Given the description of an element on the screen output the (x, y) to click on. 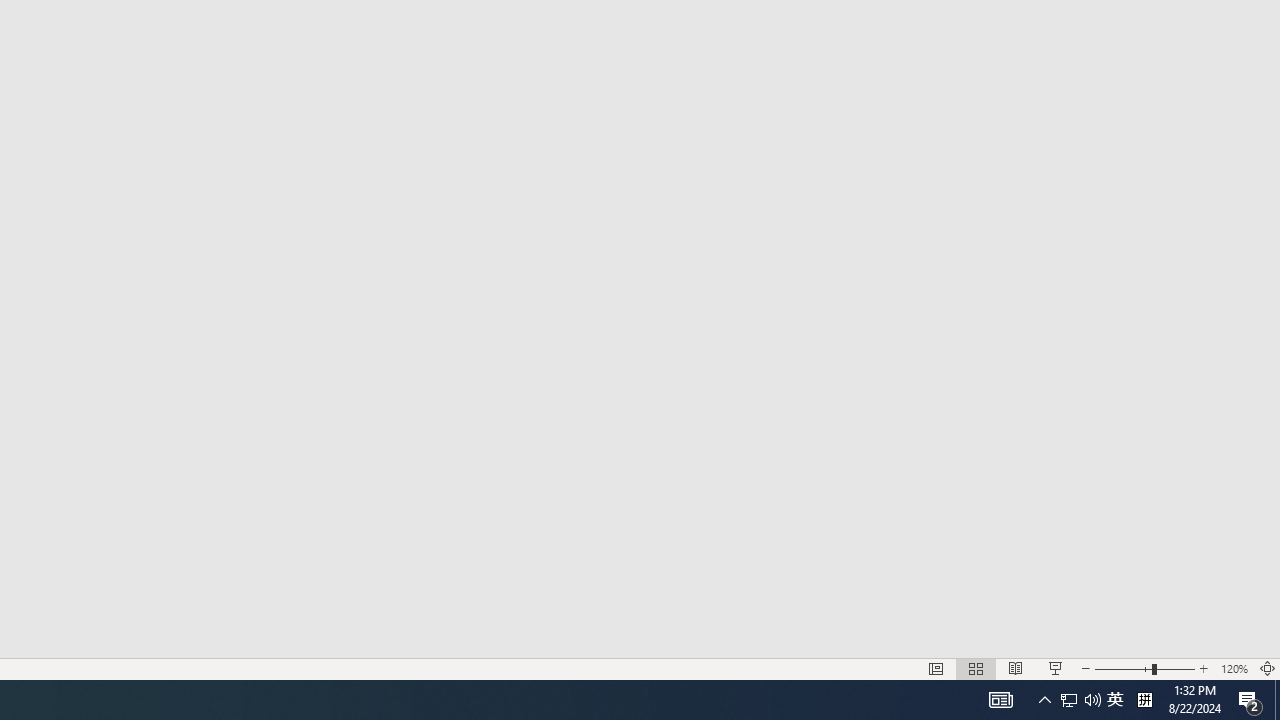
Zoom 120% (1234, 668)
